Given the description of an element on the screen output the (x, y) to click on. 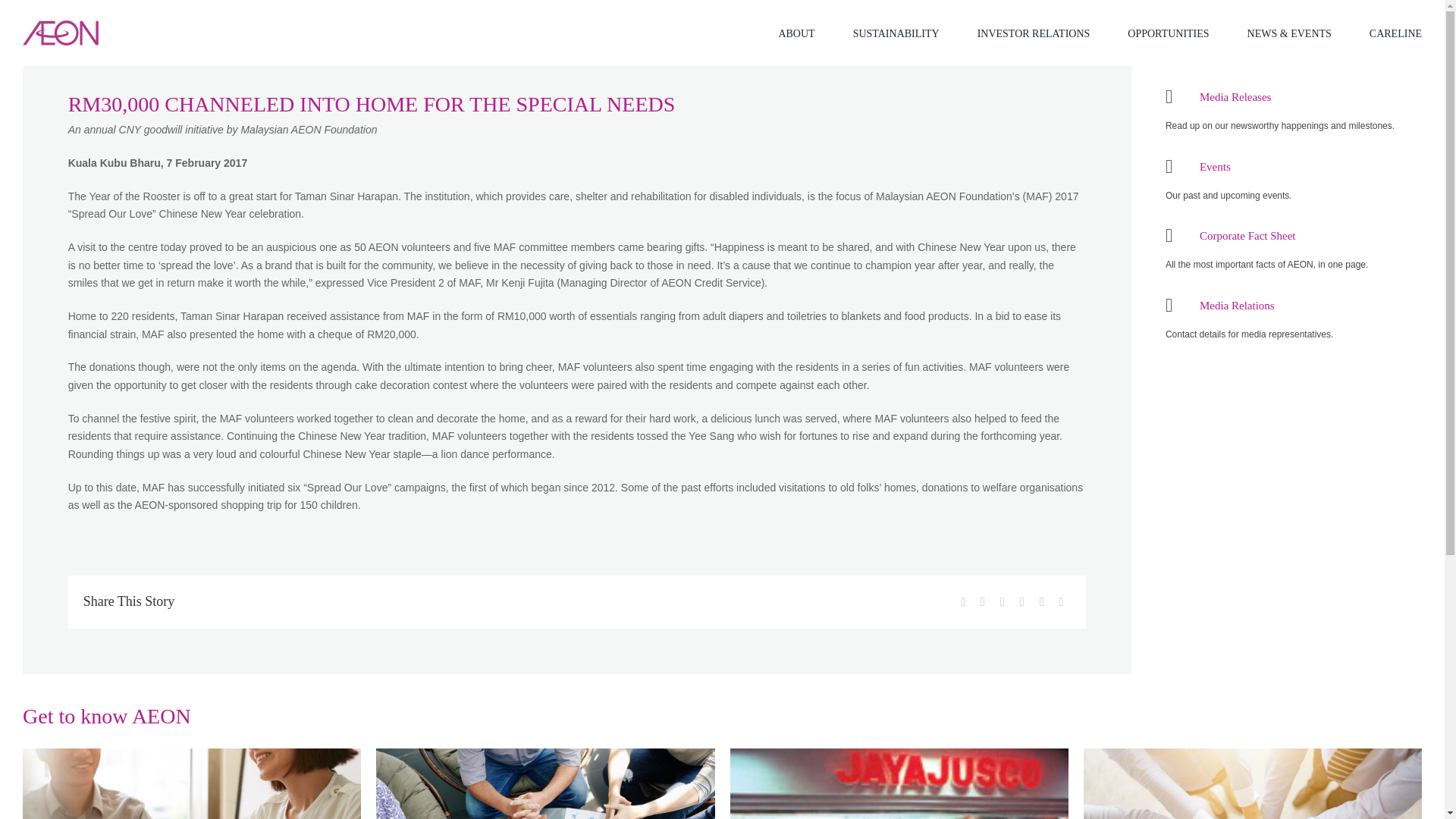
OPPORTUNITIES (1167, 32)
INVESTOR RELATIONS (1033, 32)
CARELINE (1396, 32)
SUSTAINABILITY (896, 32)
